Given the description of an element on the screen output the (x, y) to click on. 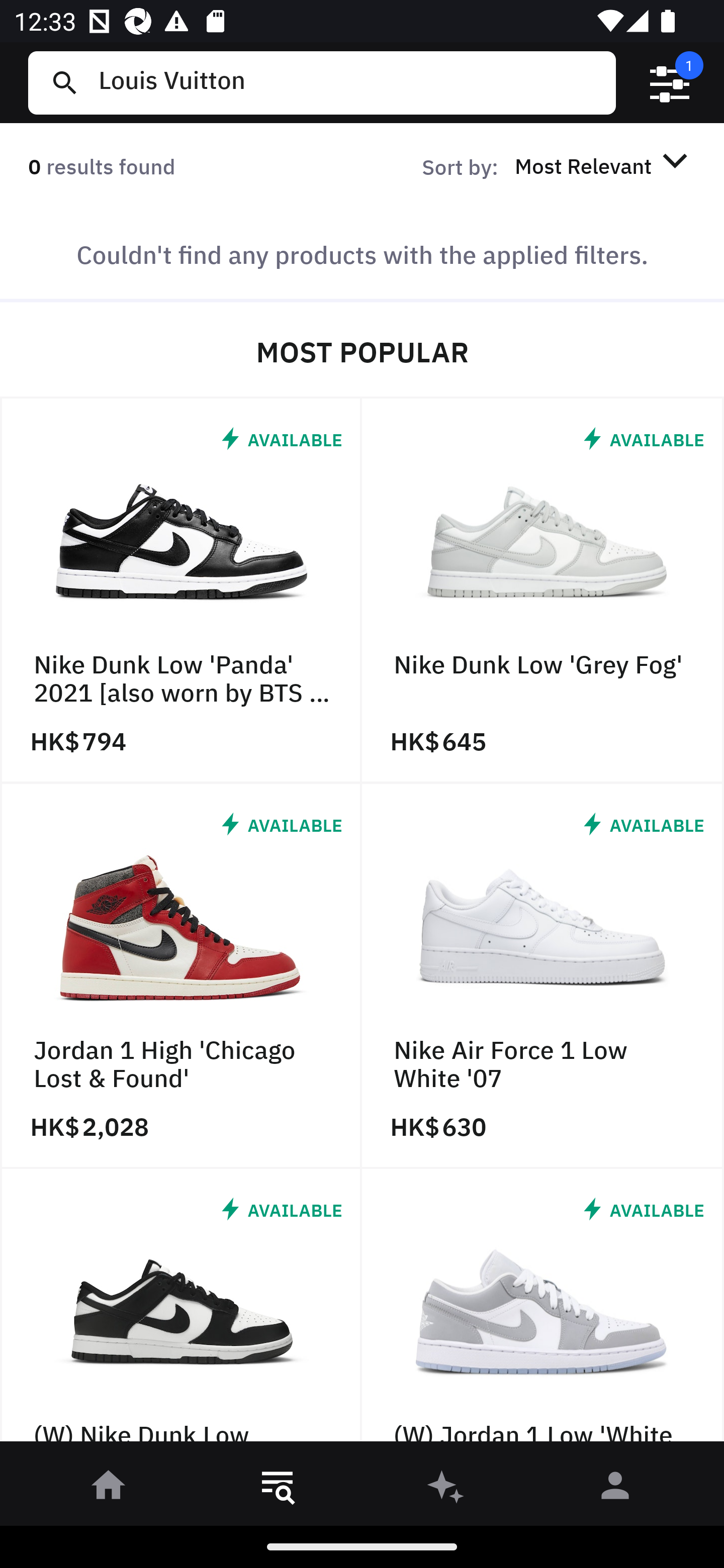
Louis Vuitton (349, 82)
 (669, 82)
Most Relevant  (604, 165)
 AVAILABLE Nike Dunk Low 'Grey Fog' HK$ 645 (543, 591)
 AVAILABLE Nike Air Force 1 Low White '07 HK$ 630 (543, 976)
 AVAILABLE (W) Nike Dunk Low 'Panda' 2021 (181, 1309)
 AVAILABLE (W) Jordan 1 Low 'White Wolf Grey' (543, 1309)
󰋜 (108, 1488)
󱎸 (277, 1488)
󰫢 (446, 1488)
󰀄 (615, 1488)
